Given the description of an element on the screen output the (x, y) to click on. 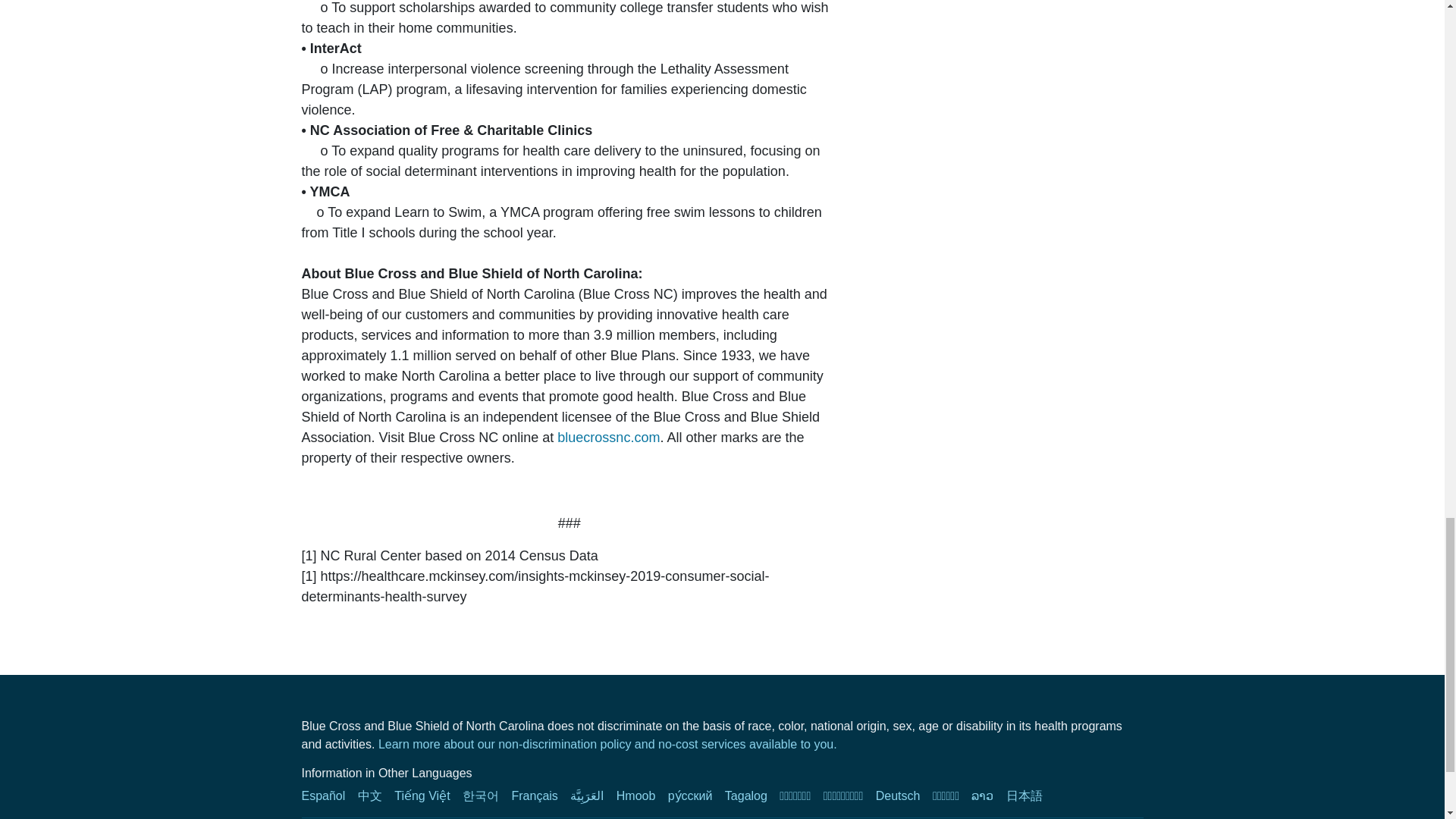
Non-Discrimination Policy and Accessibility Services (950, 795)
Non-Discrimination Policy and Accessibility Services (640, 795)
Non-Discrimination Policy and Accessibility Services (374, 795)
Non-Discrimination Policy and Accessibility Services (607, 744)
Non-Discrimination Policy and Accessibility Services (591, 795)
Non-Discrimination Policy and Accessibility Services (987, 795)
Non-Discrimination Policy and Accessibility Services (798, 795)
Non-Discrimination Policy and Accessibility Services (1028, 795)
Non-Discrimination Policy and Accessibility Services (426, 795)
